Given the description of an element on the screen output the (x, y) to click on. 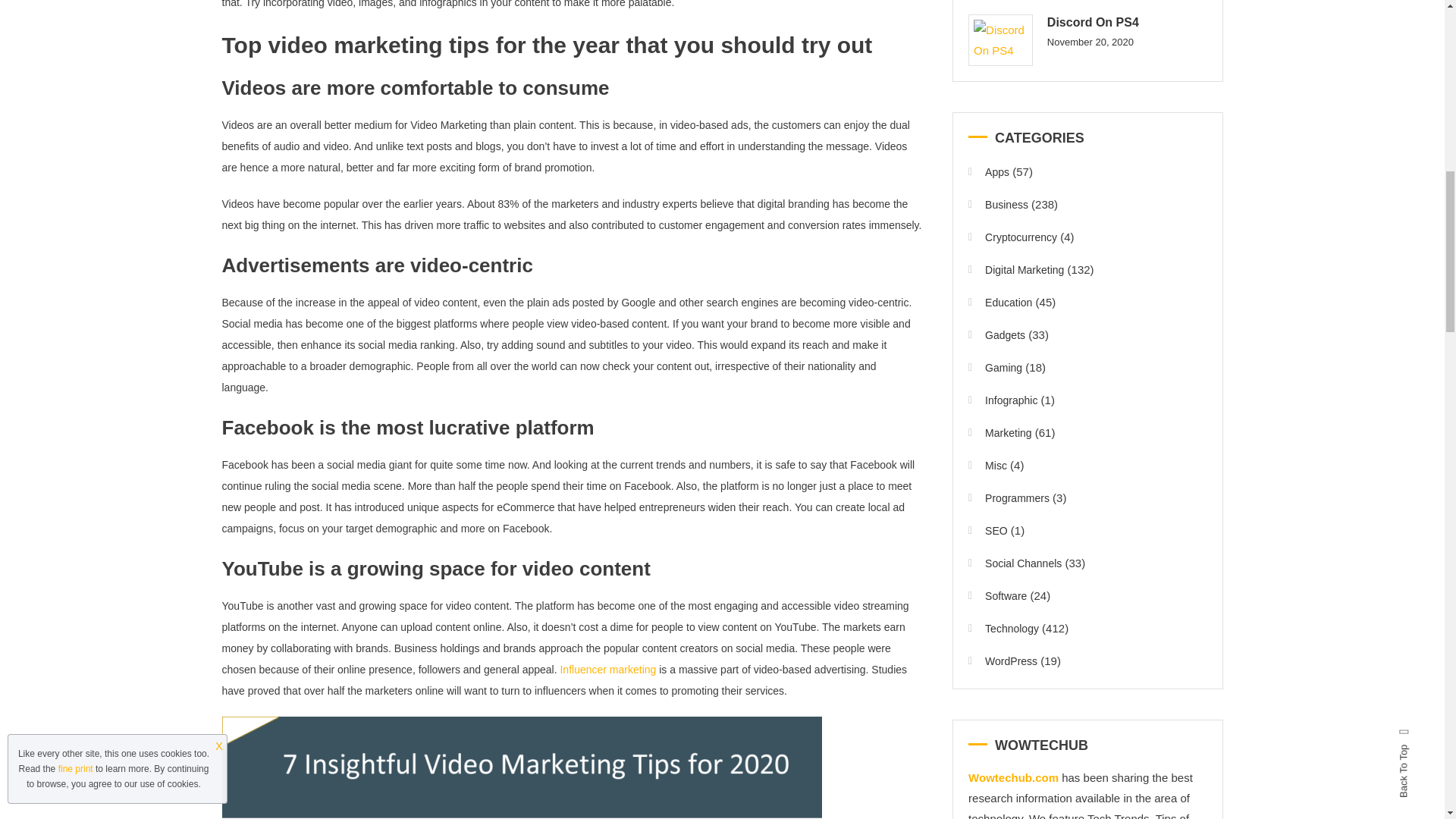
Influencer marketing (607, 669)
Discord On PS4 (1000, 40)
